Given the description of an element on the screen output the (x, y) to click on. 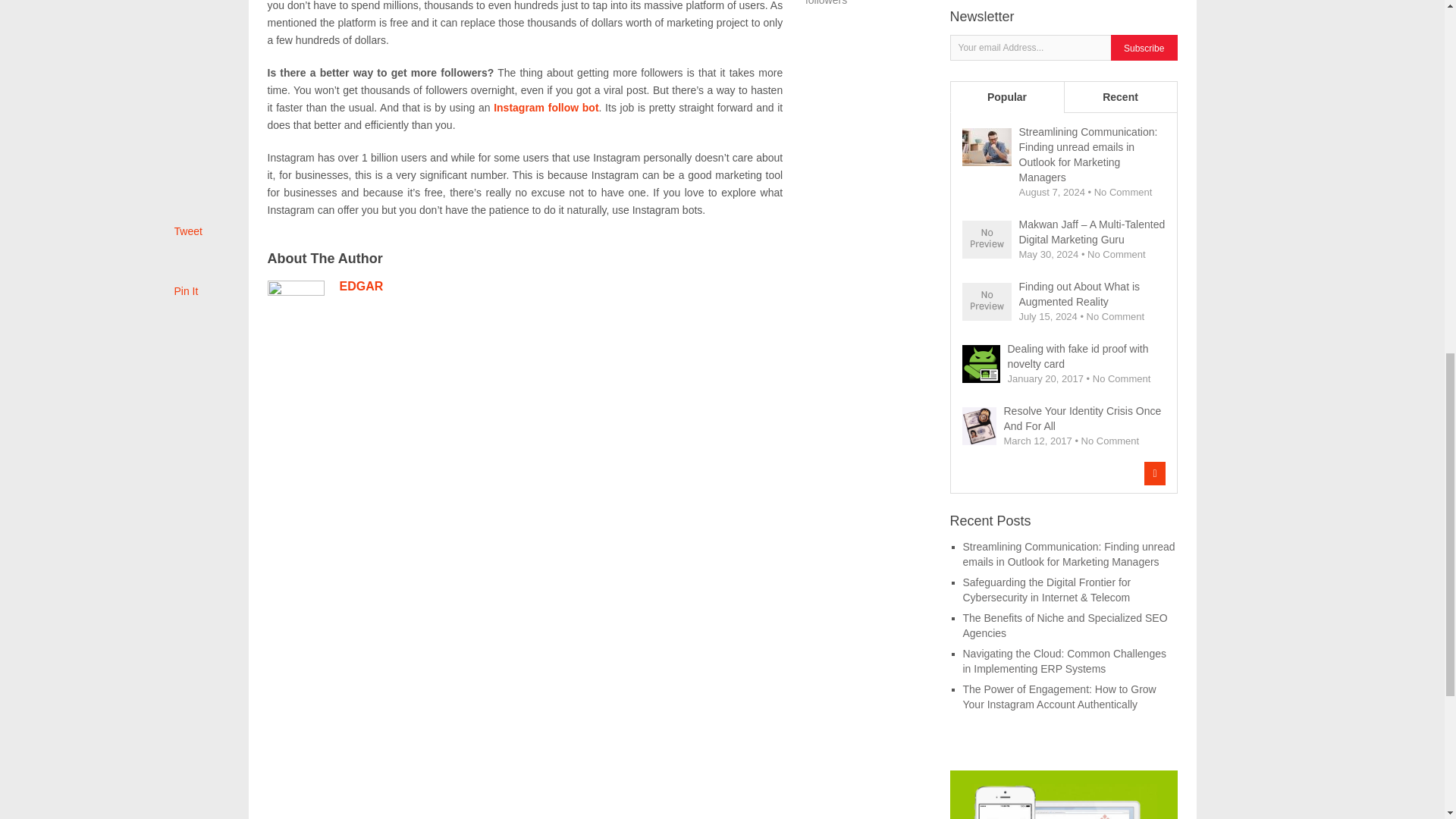
Instagram follow bot (545, 107)
Subscribe (1143, 48)
EDGAR (361, 286)
Your email Address... (1032, 47)
Subscribe (1143, 48)
